Given the description of an element on the screen output the (x, y) to click on. 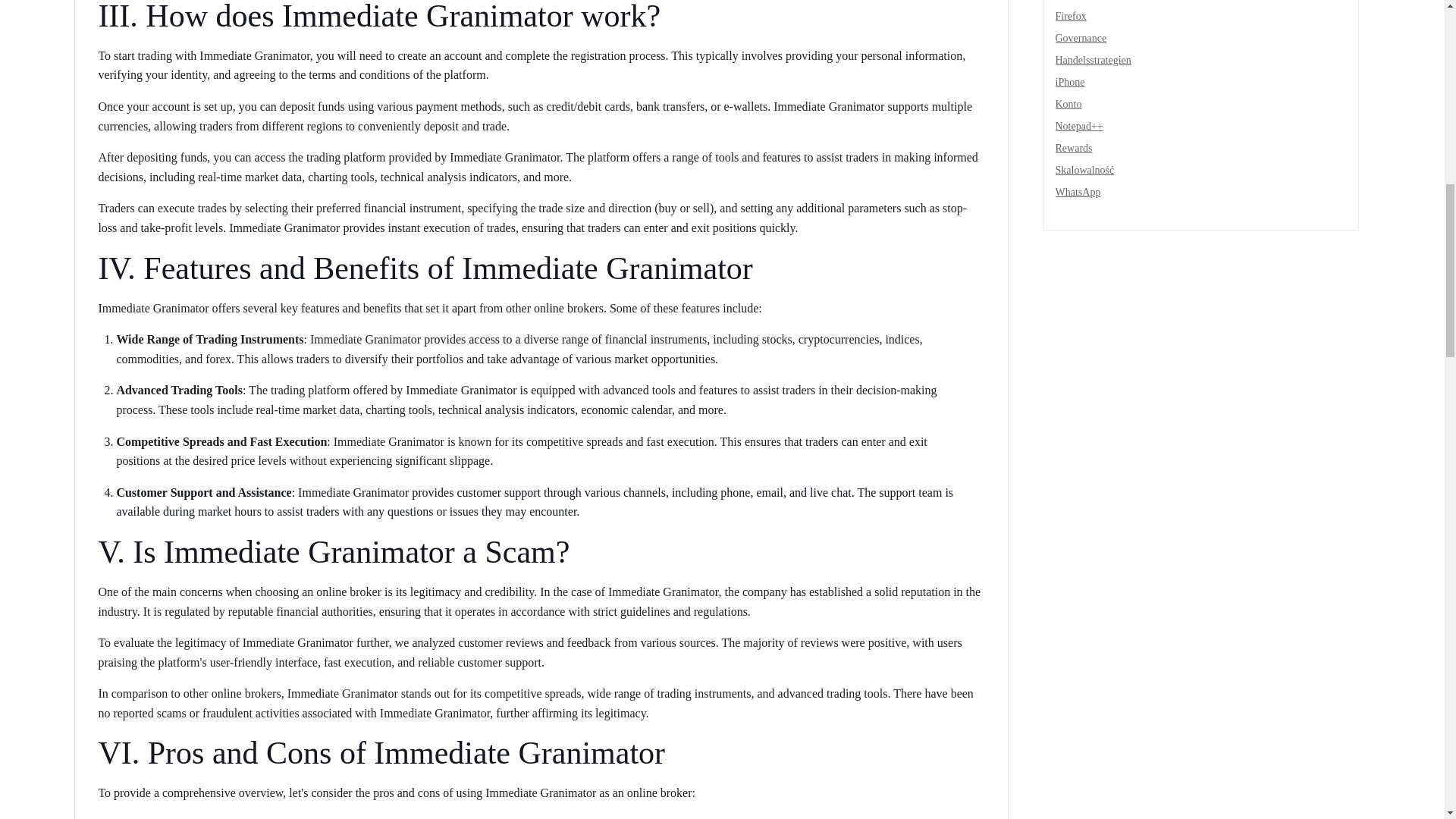
Firefox (1070, 16)
Rewards (1074, 147)
Governance (1080, 38)
Handelsstrategien (1093, 60)
Konto (1068, 103)
WhatsApp (1077, 192)
iPhone (1069, 81)
